Given the description of an element on the screen output the (x, y) to click on. 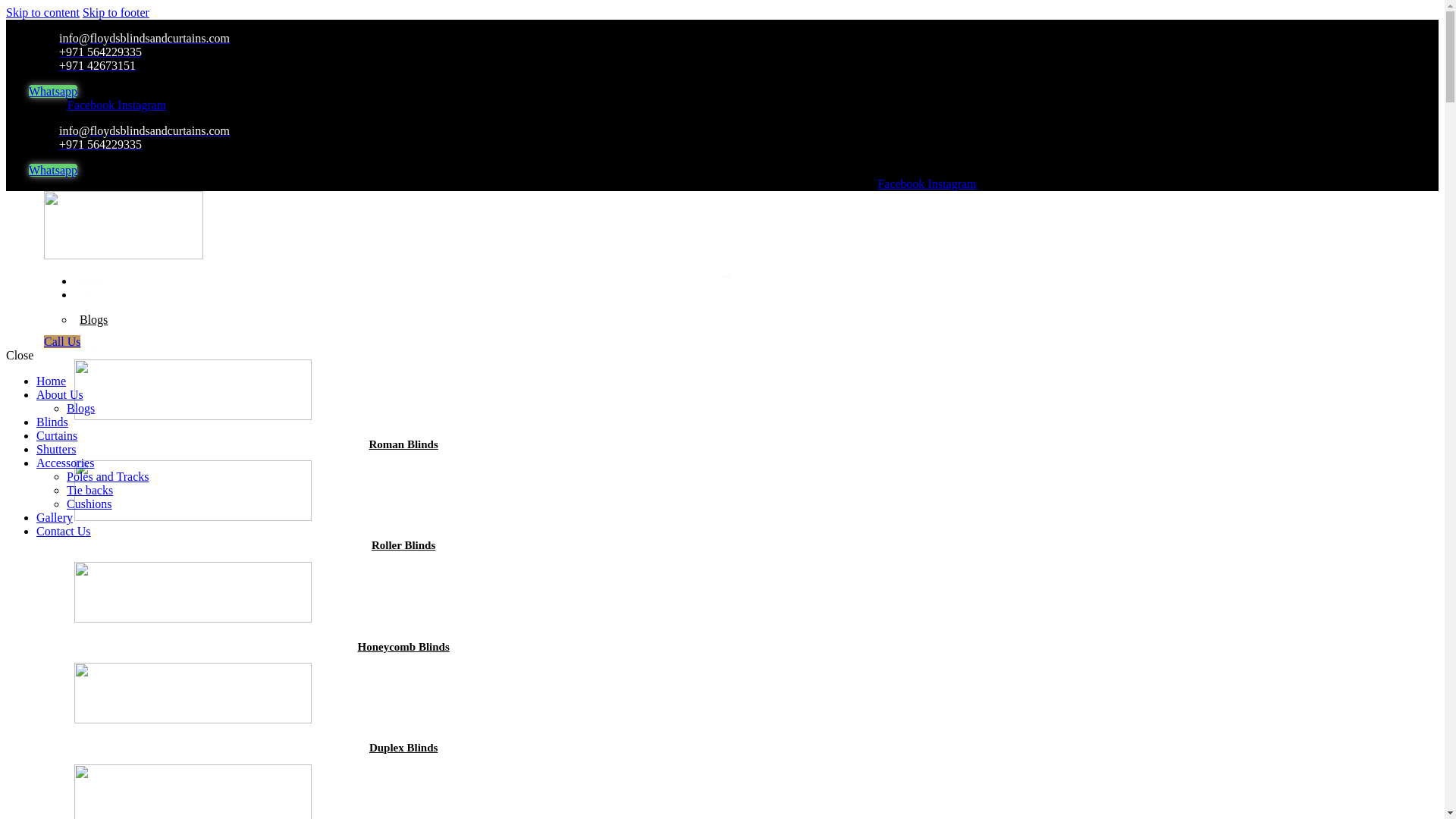
Whatsapp (53, 91)
Duplex Blinds (403, 747)
Skip to content (42, 11)
Roller Blinds (403, 544)
Roman Blinds (403, 444)
About Us (105, 294)
Facebook (91, 104)
Whatsapp (53, 169)
Instagram (952, 183)
Honeycomb Blinds (402, 646)
Blinds (97, 344)
Home (96, 280)
Blogs (93, 321)
Instagram (141, 104)
Skip to footer (115, 11)
